Given the description of an element on the screen output the (x, y) to click on. 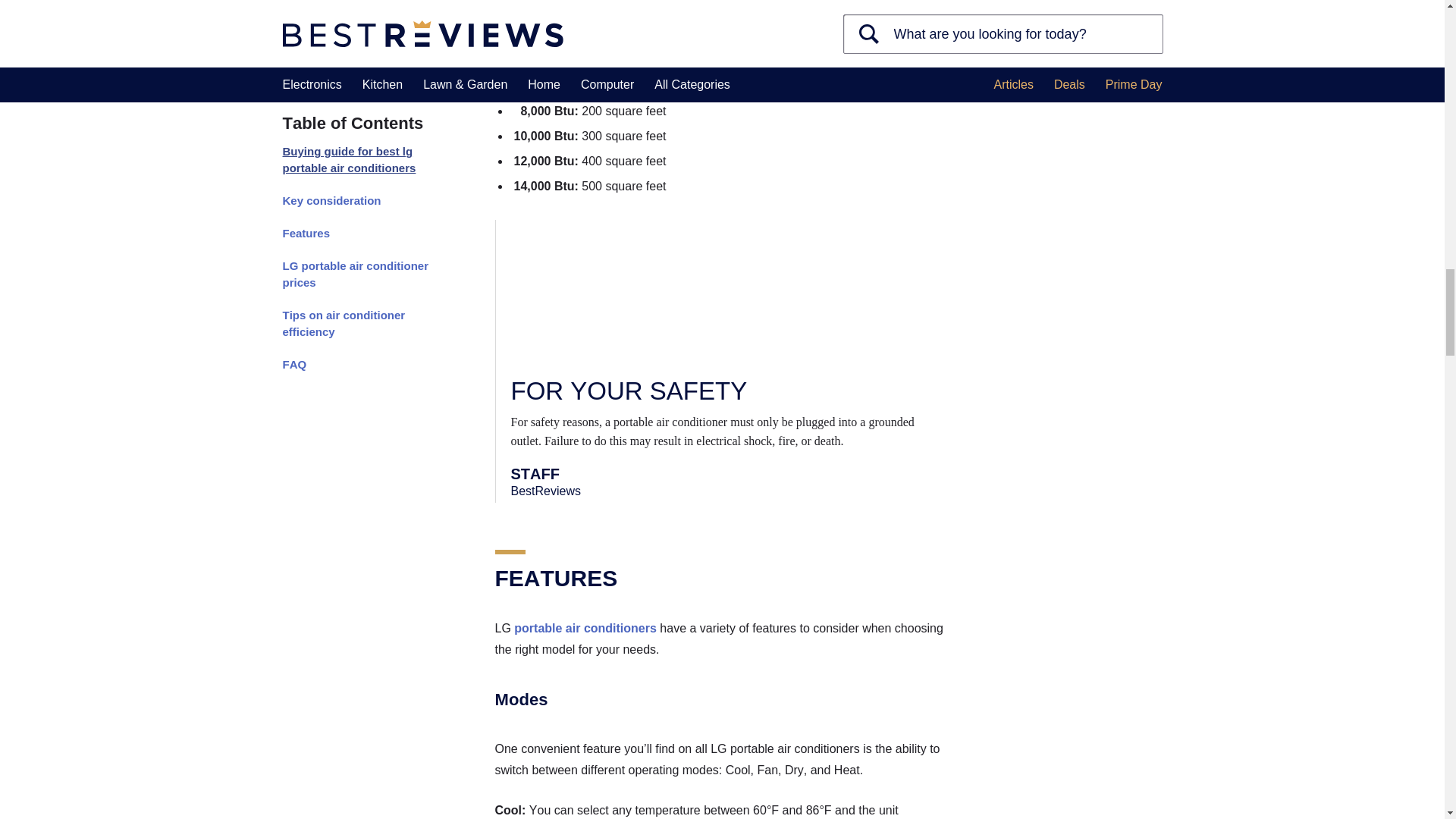
portable air conditioners (584, 627)
